Given the description of an element on the screen output the (x, y) to click on. 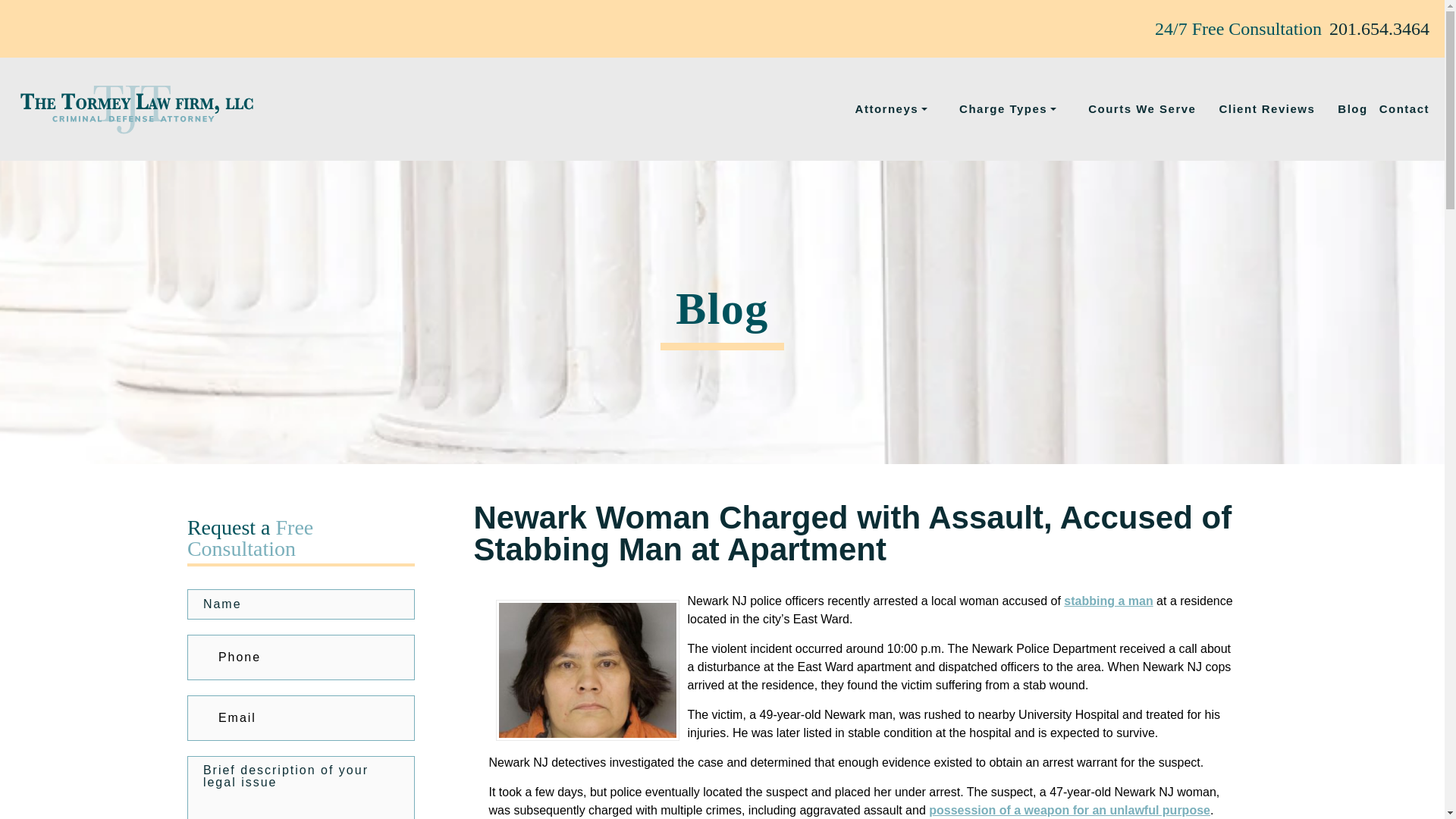
Newark Aggravated Assault Suspect (587, 670)
Contact (1403, 108)
The Tormey Law Firm - Essex County NJ Criminal Defense (135, 108)
201.654.3464 (1379, 28)
Client Reviews (1266, 108)
Courts We Serve (1141, 108)
Attorneys (896, 108)
Blog (1352, 108)
Charge Types (1012, 108)
